Given the description of an element on the screen output the (x, y) to click on. 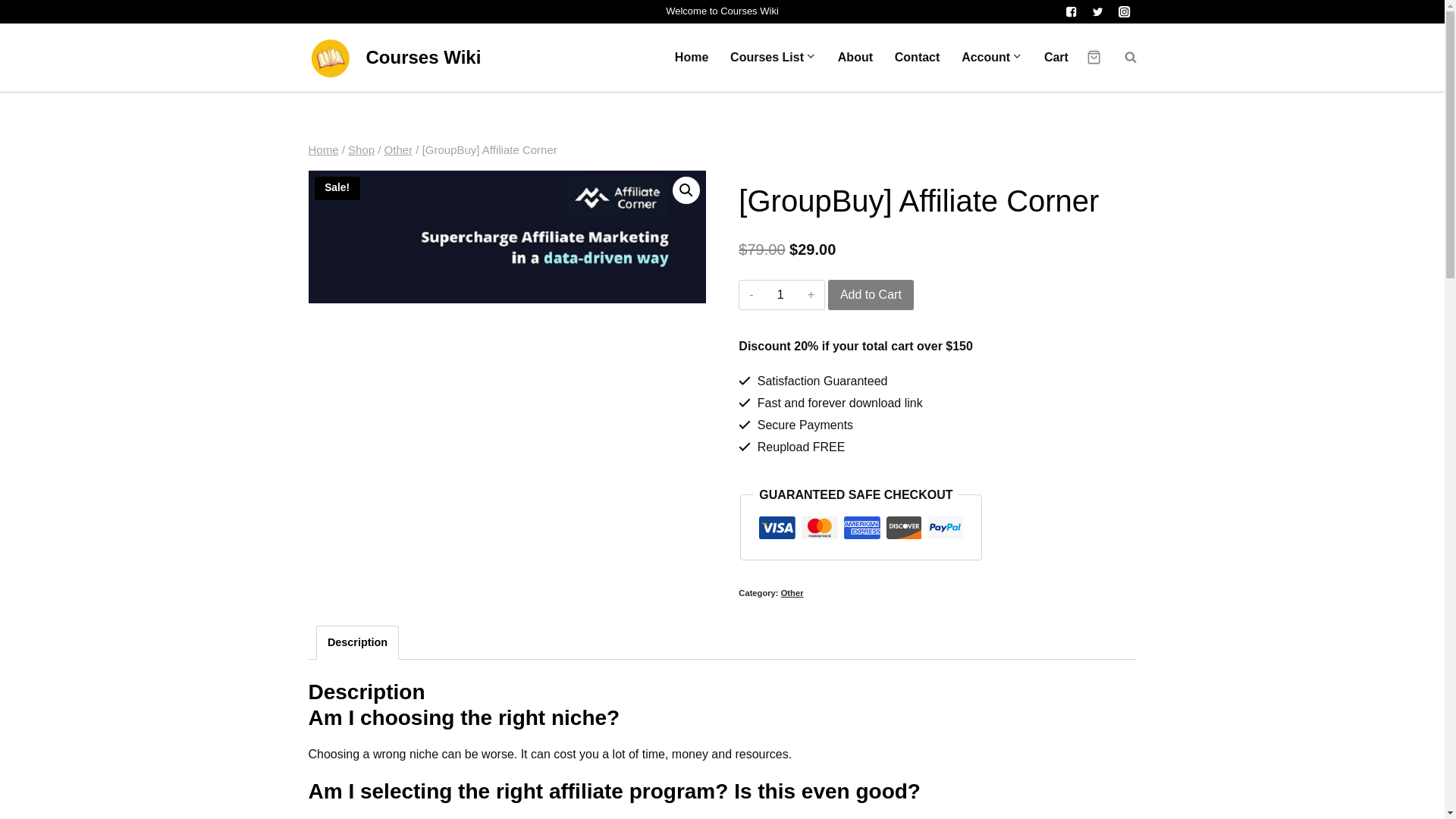
Affiliate Corner (505, 236)
Home (322, 149)
Home (691, 57)
Other (791, 592)
Courses Wiki (393, 57)
Account (991, 57)
Add to Cart (871, 295)
Qty (780, 294)
About (855, 57)
Contact (916, 57)
